Given the description of an element on the screen output the (x, y) to click on. 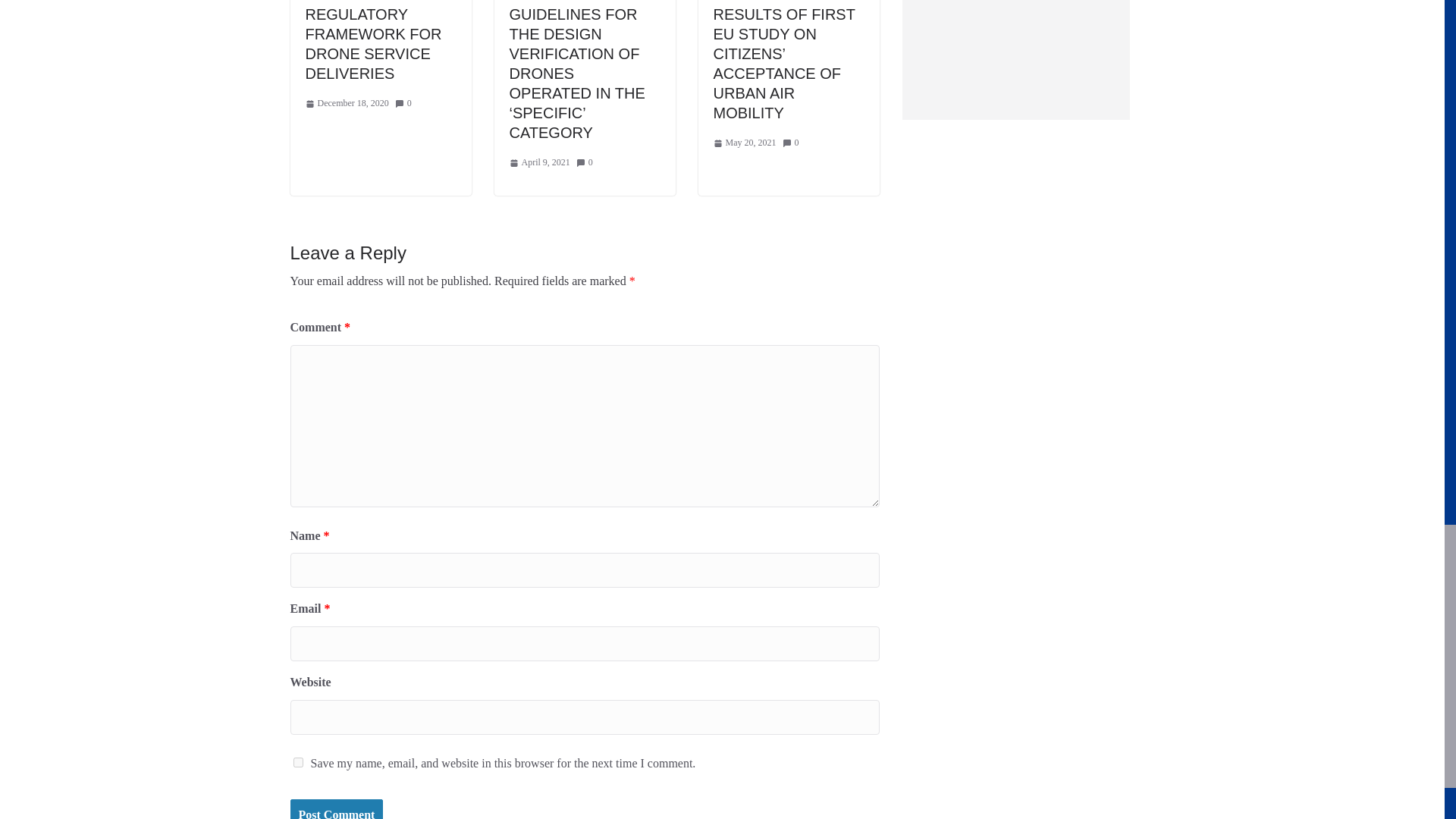
May 20, 2021 (744, 143)
December 18, 2020 (346, 103)
10:03 (346, 103)
yes (297, 762)
April 9, 2021 (539, 162)
09:18 (539, 162)
Post Comment (335, 809)
